Given the description of an element on the screen output the (x, y) to click on. 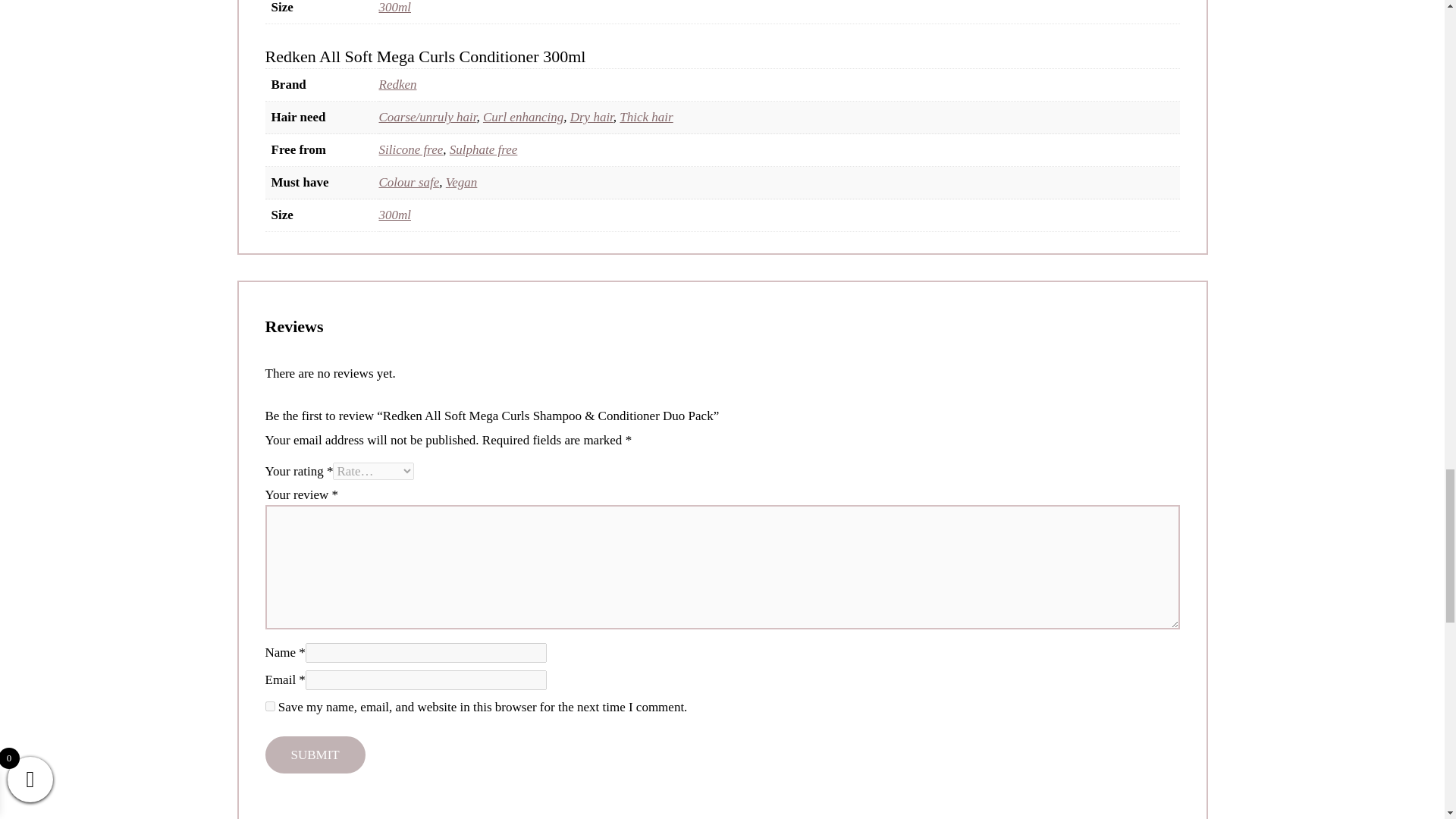
Submit (314, 754)
yes (269, 706)
